Given the description of an element on the screen output the (x, y) to click on. 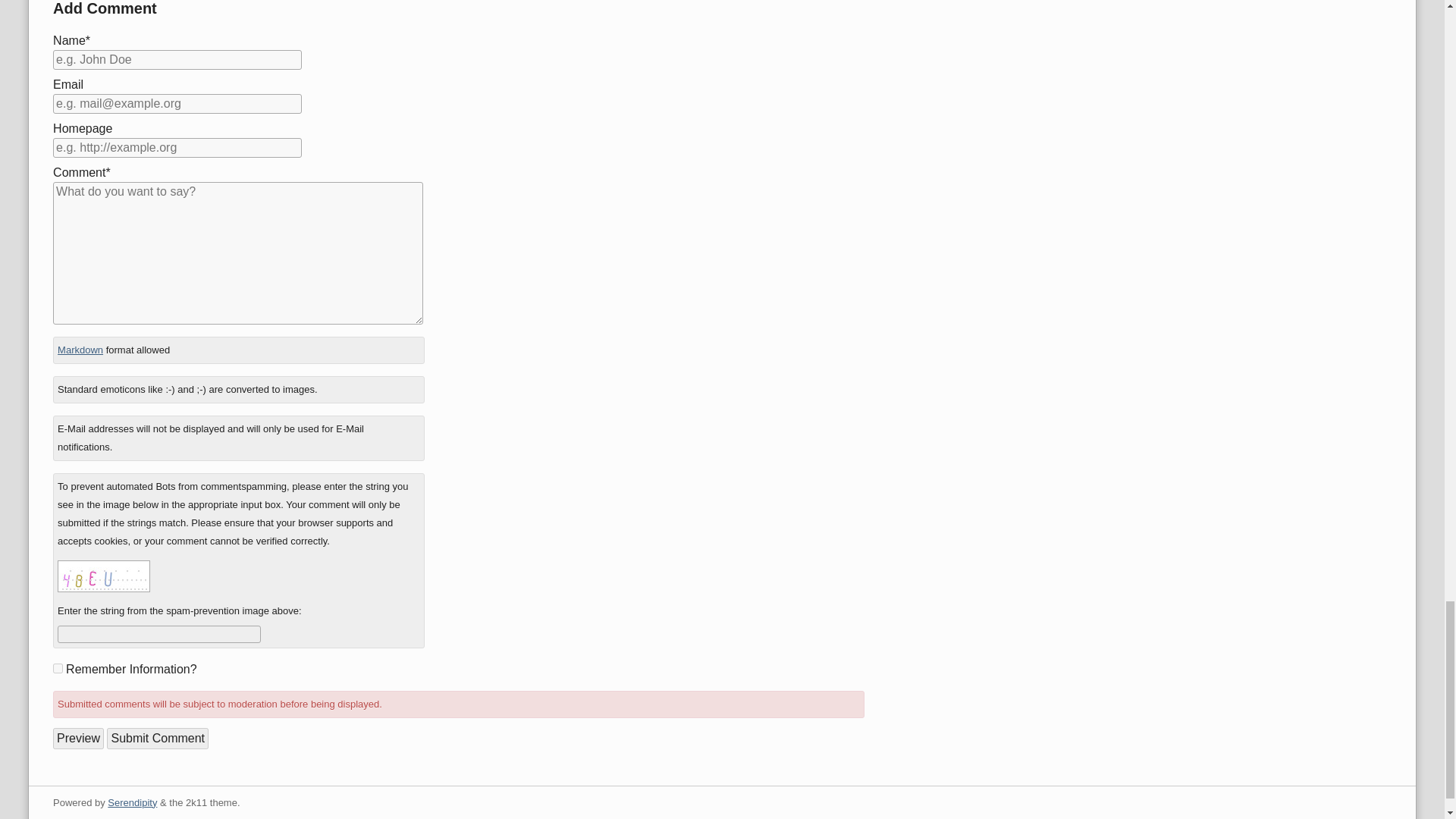
Enter the string you see here in the input box! (103, 576)
Submit Comment (157, 738)
Preview (77, 738)
Markdown (80, 349)
Submit Comment (157, 738)
Preview (77, 738)
on (57, 668)
